Given the description of an element on the screen output the (x, y) to click on. 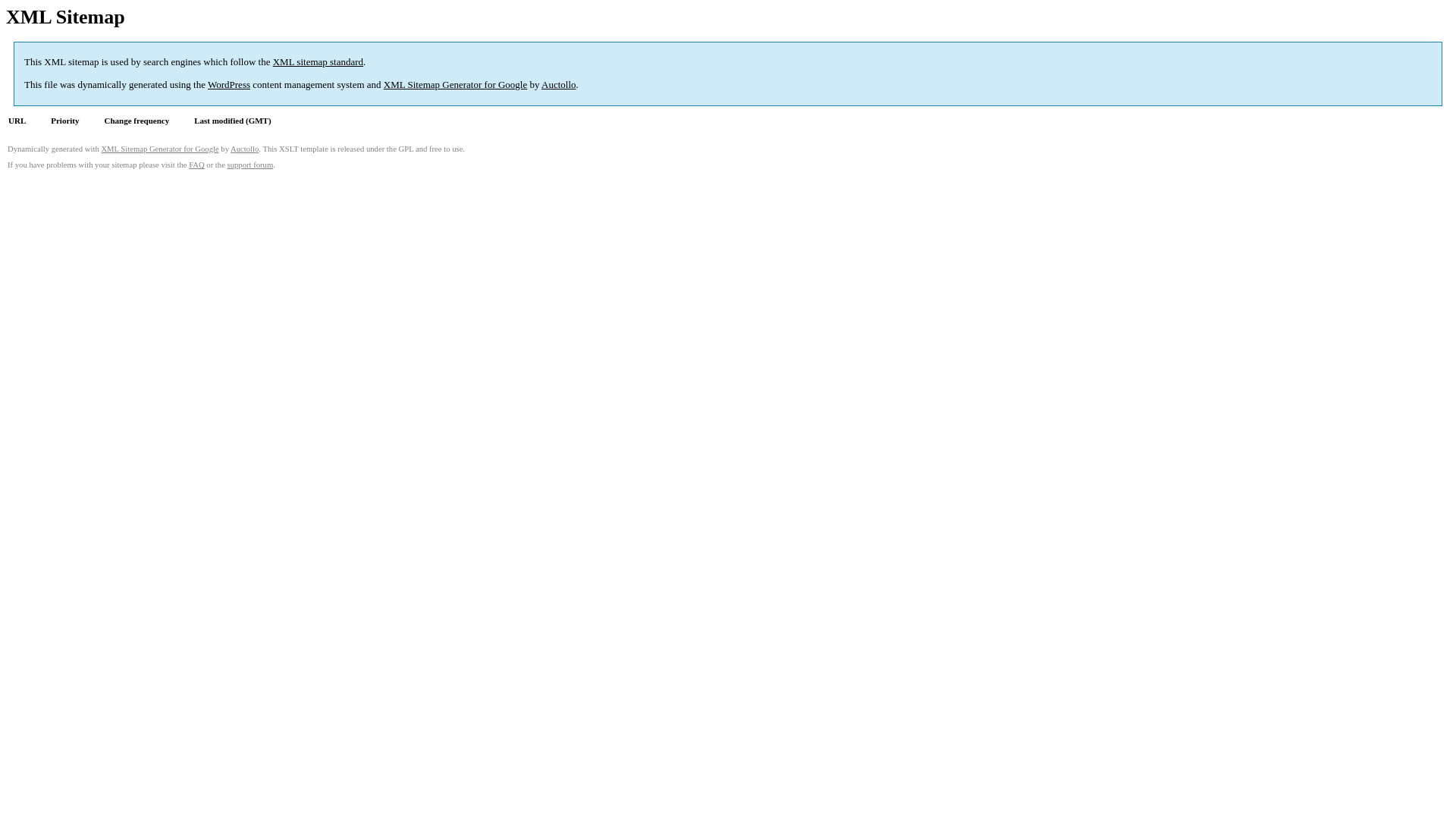
XML Sitemap Generator for Google Element type: text (455, 84)
XML sitemap standard Element type: text (318, 61)
Auctollo Element type: text (558, 84)
FAQ Element type: text (196, 164)
support forum Element type: text (250, 164)
XML Sitemap Generator for Google Element type: text (159, 148)
WordPress Element type: text (228, 84)
Auctollo Element type: text (244, 148)
